Given the description of an element on the screen output the (x, y) to click on. 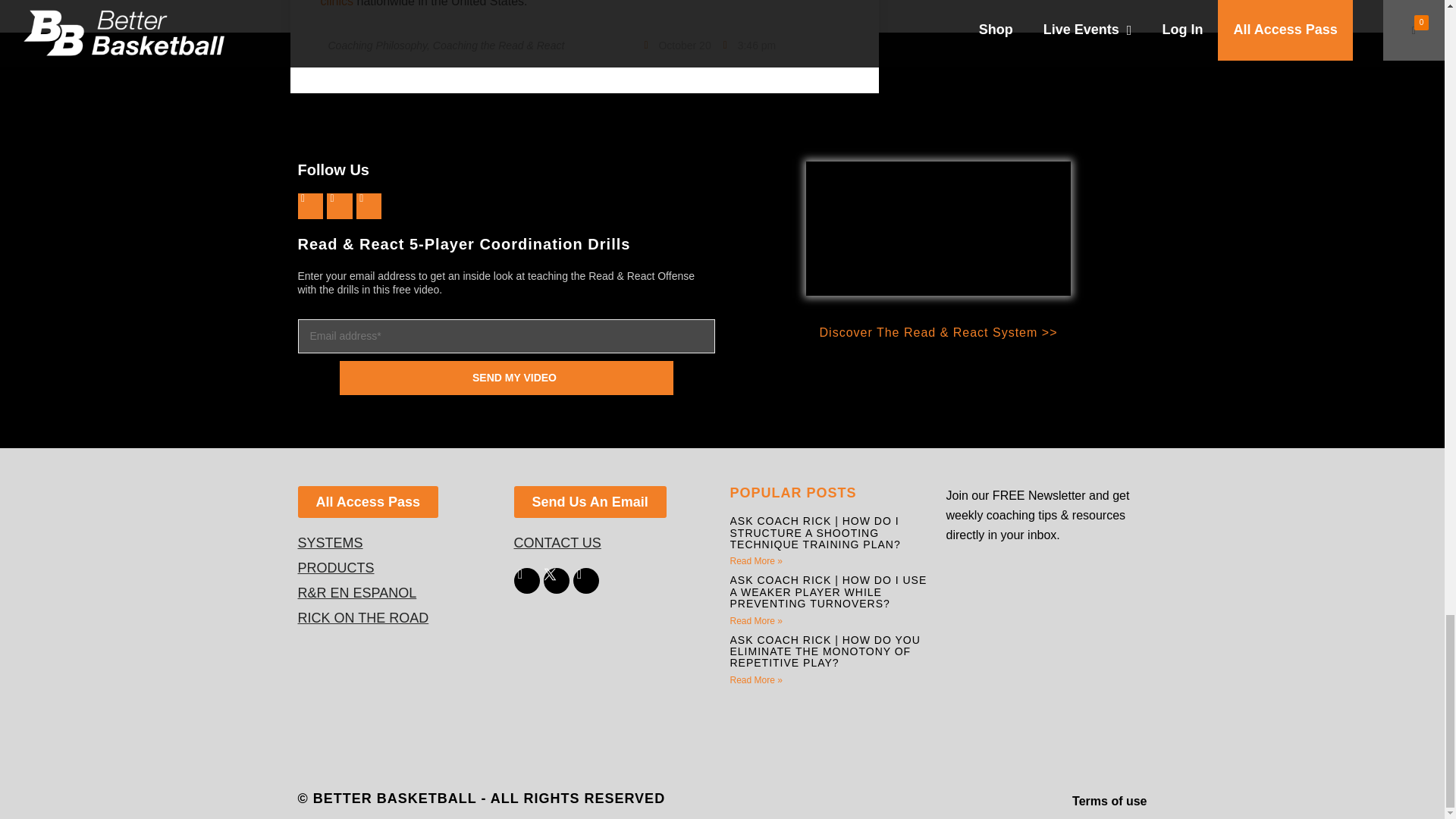
Coaching Philosophy (376, 45)
Form 1 (1046, 658)
Send My Video (505, 376)
PGC Coaching clinics (572, 3)
